Given the description of an element on the screen output the (x, y) to click on. 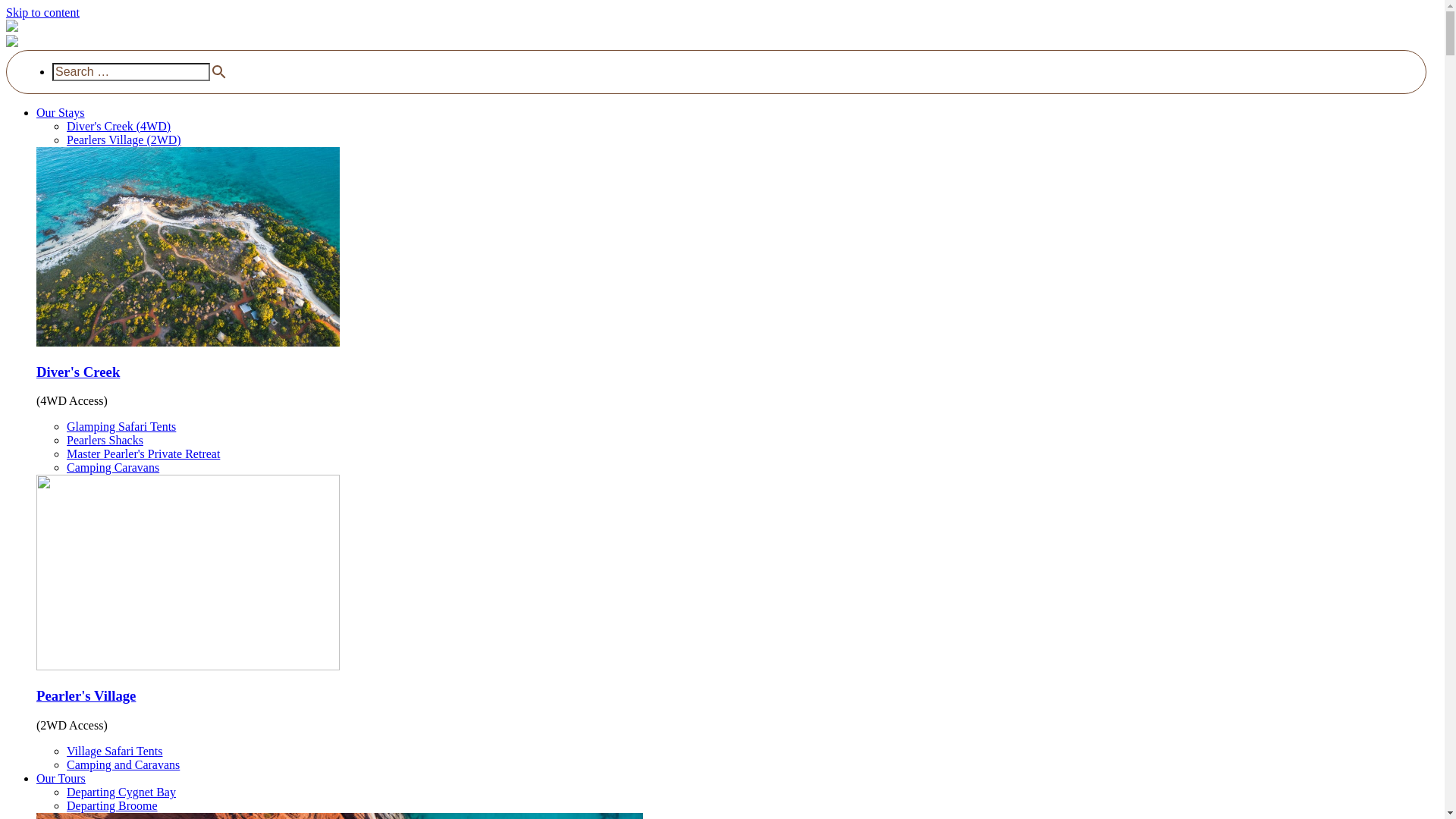
Skip to content Element type: text (42, 12)
Camping and Caravans Element type: text (122, 764)
Pearlers Shacks Element type: text (104, 439)
Pearler's Village Element type: text (85, 695)
Master Pearler's Private Retreat Element type: text (142, 453)
Camping Caravans Element type: text (112, 467)
Our Tours Element type: text (60, 777)
Diver's Creek Element type: text (77, 371)
Diver's Creek (4WD) Element type: text (118, 125)
Pearlers Village (2WD) Element type: text (123, 139)
Departing Broome Element type: text (111, 805)
Departing Cygnet Bay Element type: text (120, 791)
Glamping Safari Tents Element type: text (120, 426)
Village Safari Tents Element type: text (114, 750)
Our Stays Element type: text (60, 112)
